Given the description of an element on the screen output the (x, y) to click on. 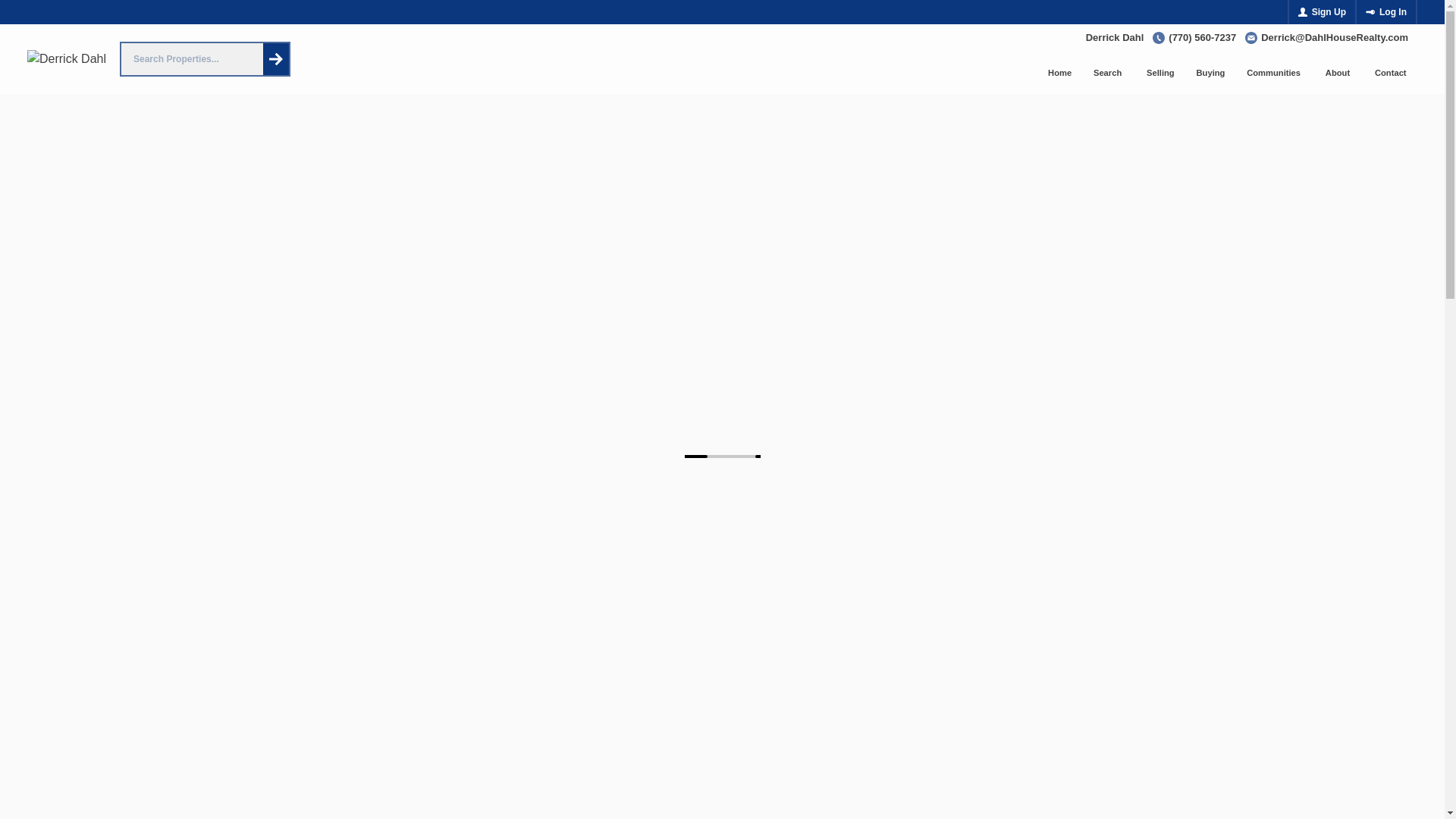
Contact (1390, 73)
Selling (1160, 73)
Buying (1210, 73)
Sign Up (1321, 12)
Communities (1275, 73)
About (1338, 73)
Log In (1385, 12)
Home (1059, 73)
Search (1109, 73)
